Given the description of an element on the screen output the (x, y) to click on. 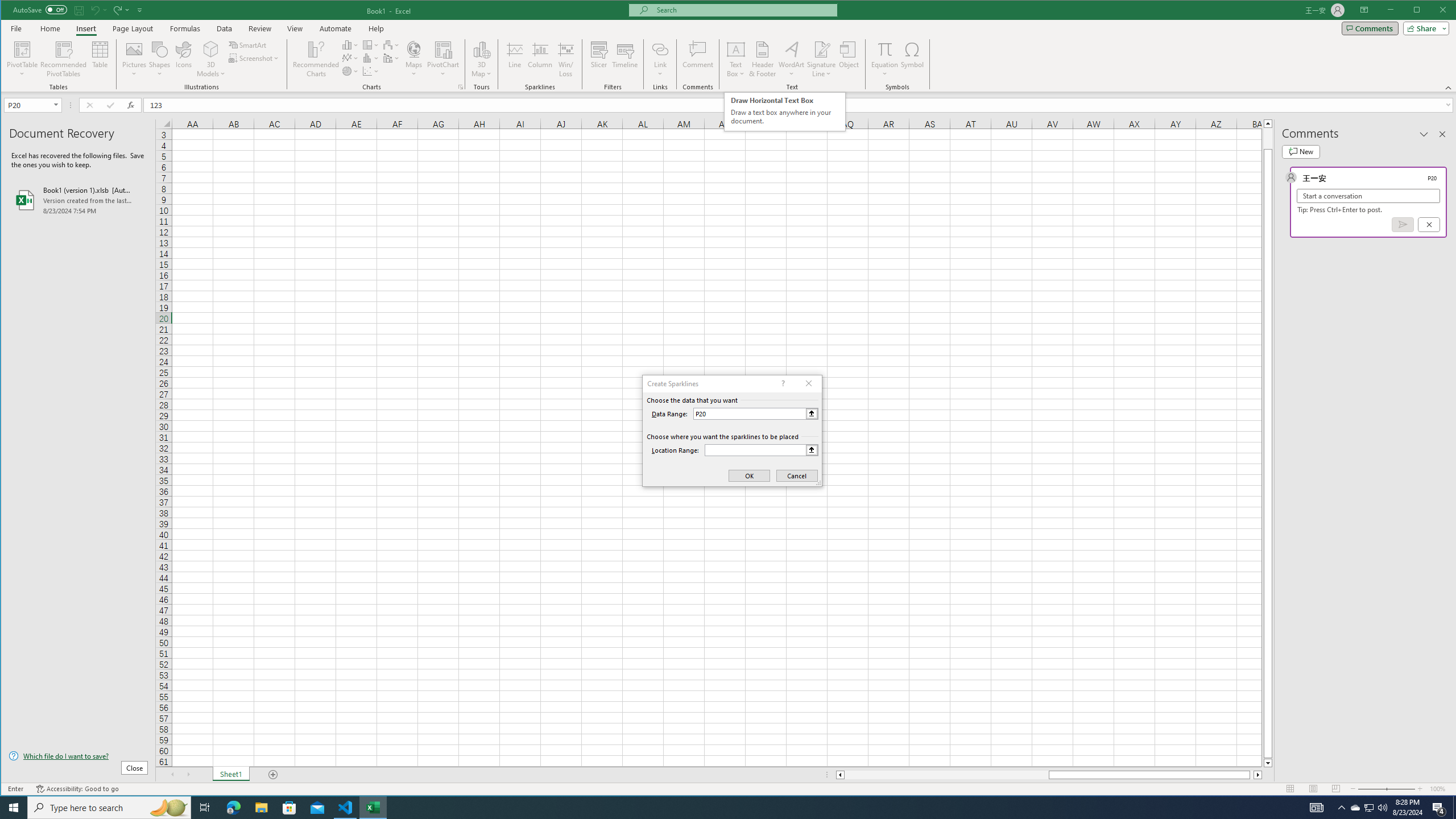
Slicer... (598, 59)
Page left (946, 774)
Signature Line (821, 48)
Automate (336, 28)
SmartArt... (248, 44)
